Given the description of an element on the screen output the (x, y) to click on. 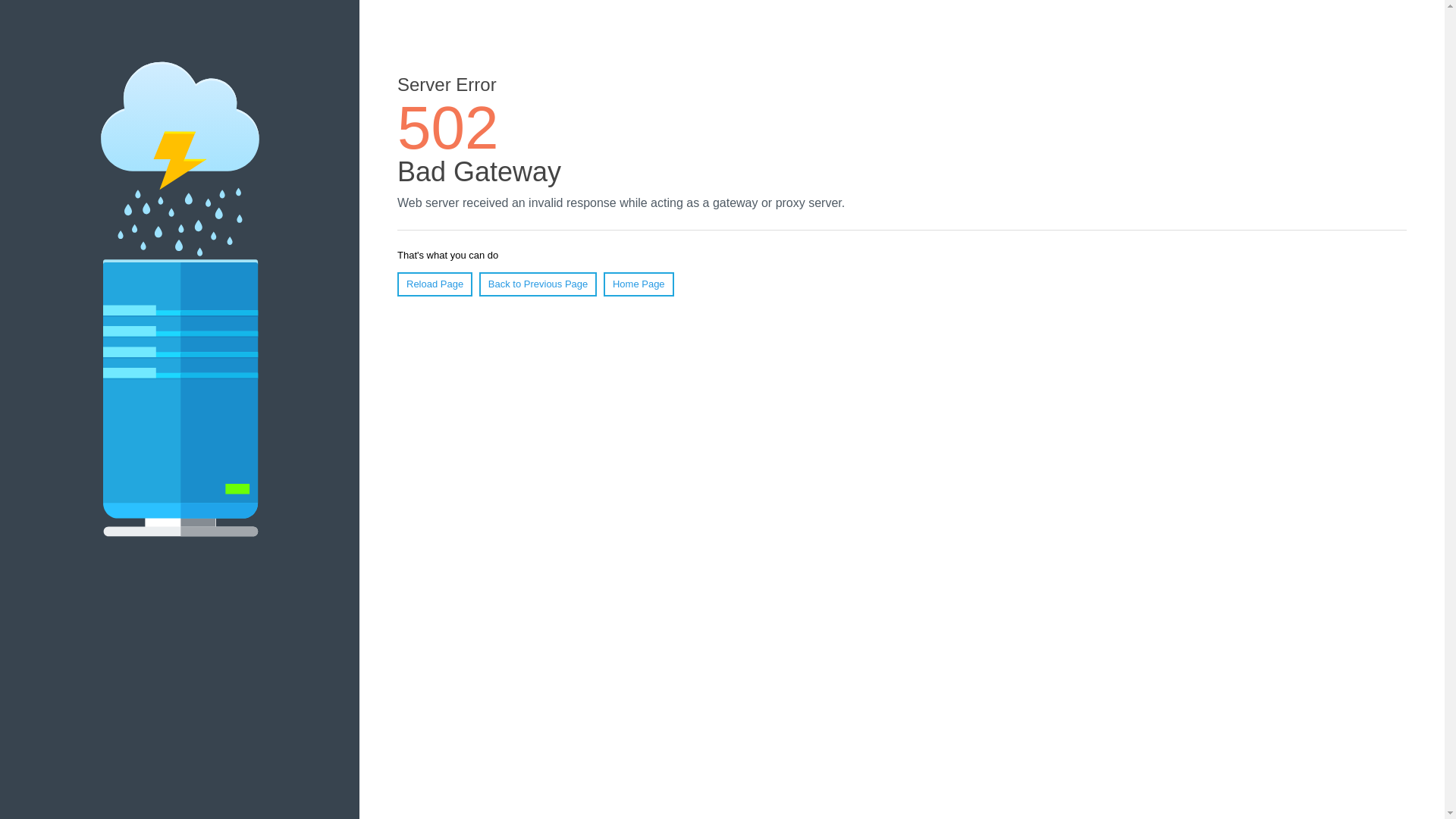
Home Page (639, 283)
Back to Previous Page (537, 283)
Reload Page (434, 283)
